Given the description of an element on the screen output the (x, y) to click on. 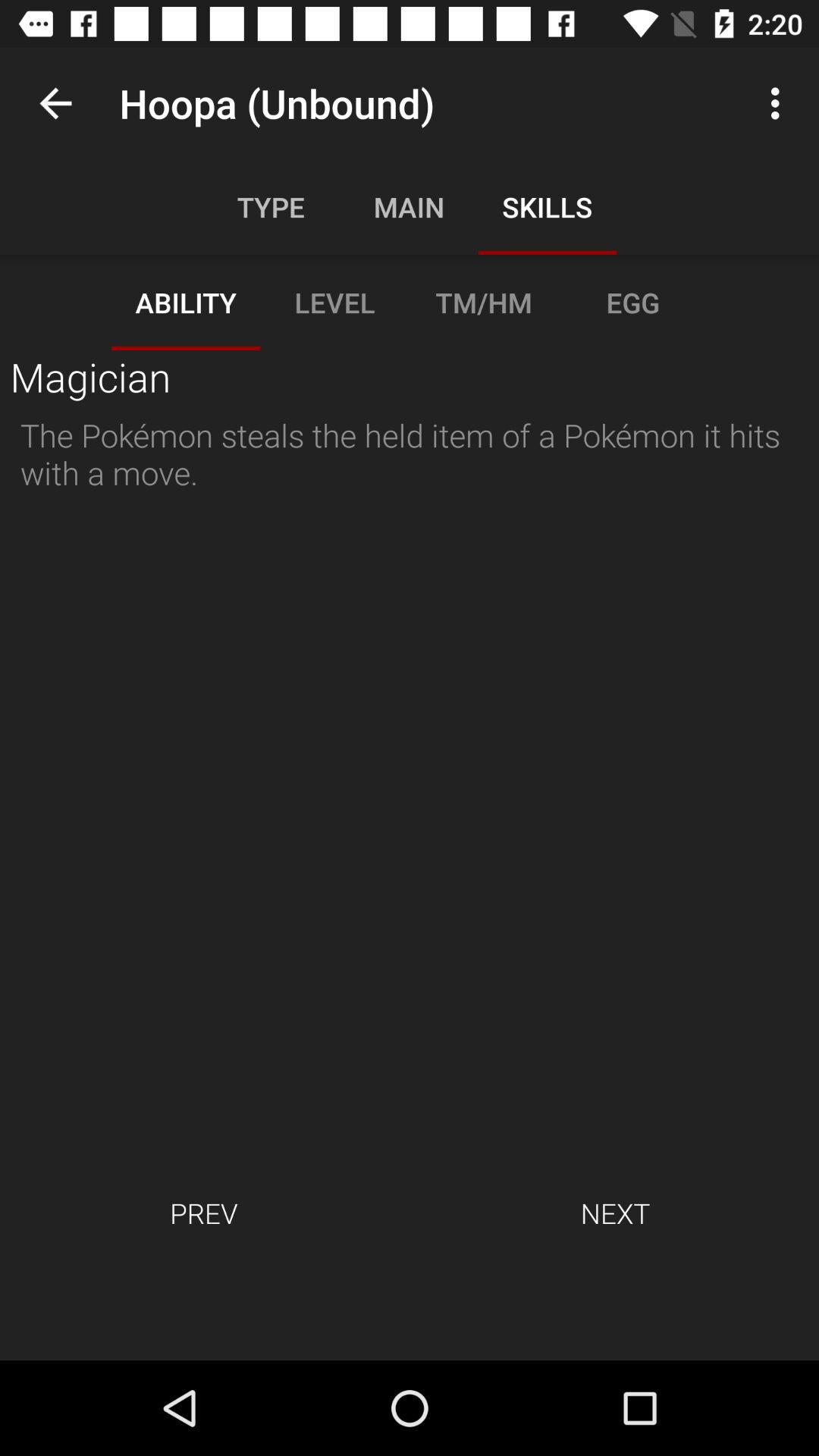
open the icon to the left of the hoopa (unbound) icon (55, 103)
